Given the description of an element on the screen output the (x, y) to click on. 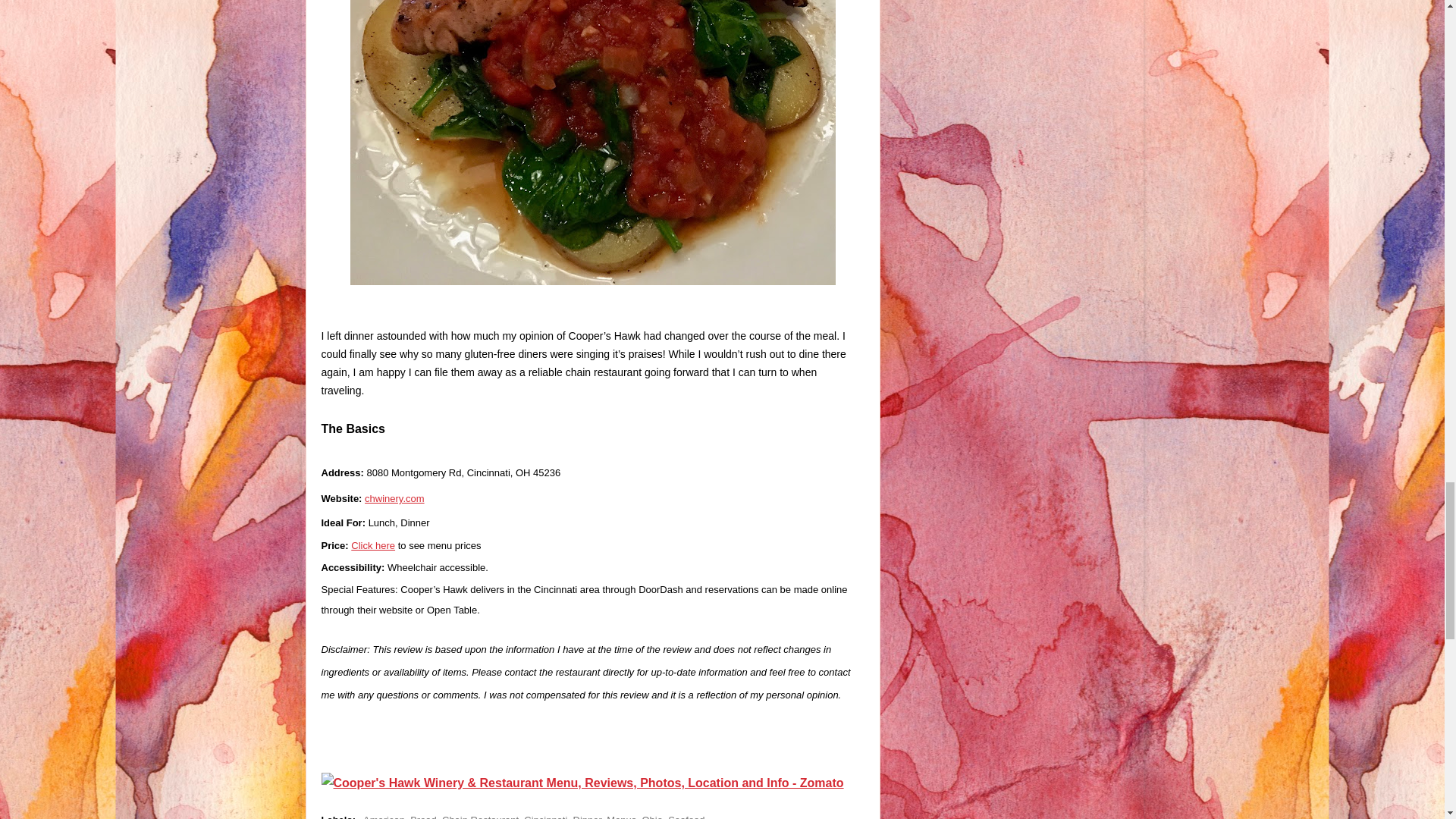
American (383, 816)
Seafood (686, 816)
Click here (372, 545)
chwinery.com (395, 498)
Chain Restaurant (480, 816)
Bread (423, 816)
Ohio (652, 816)
Dinner (587, 816)
Cincinnati (545, 816)
Menus (621, 816)
